Given the description of an element on the screen output the (x, y) to click on. 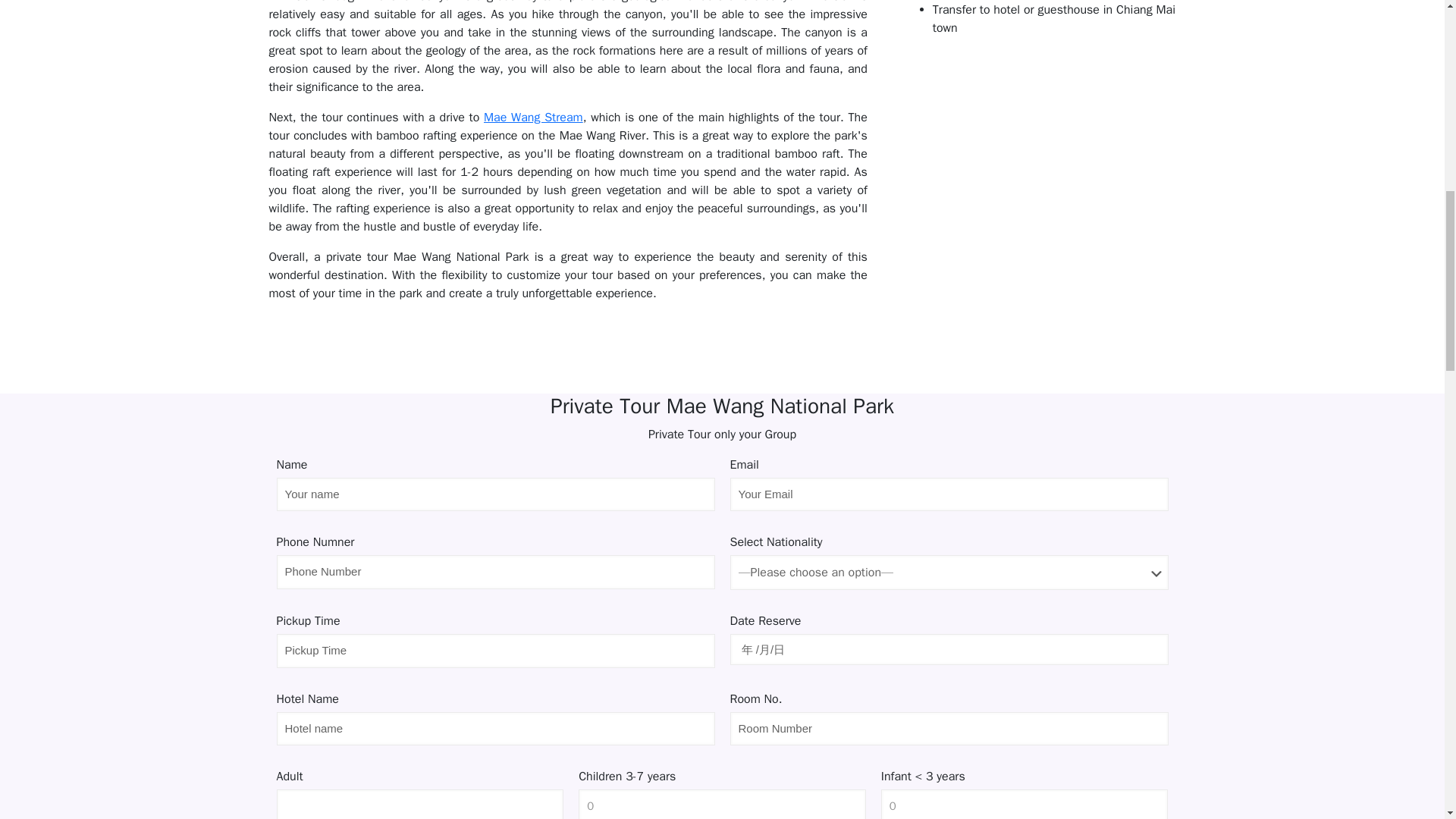
Hotel name (495, 728)
Pickup Time (495, 650)
Mae Wang Stream (533, 117)
Your name (495, 494)
Room Number (948, 728)
Phone Number (495, 571)
Your Email (948, 494)
